Given the description of an element on the screen output the (x, y) to click on. 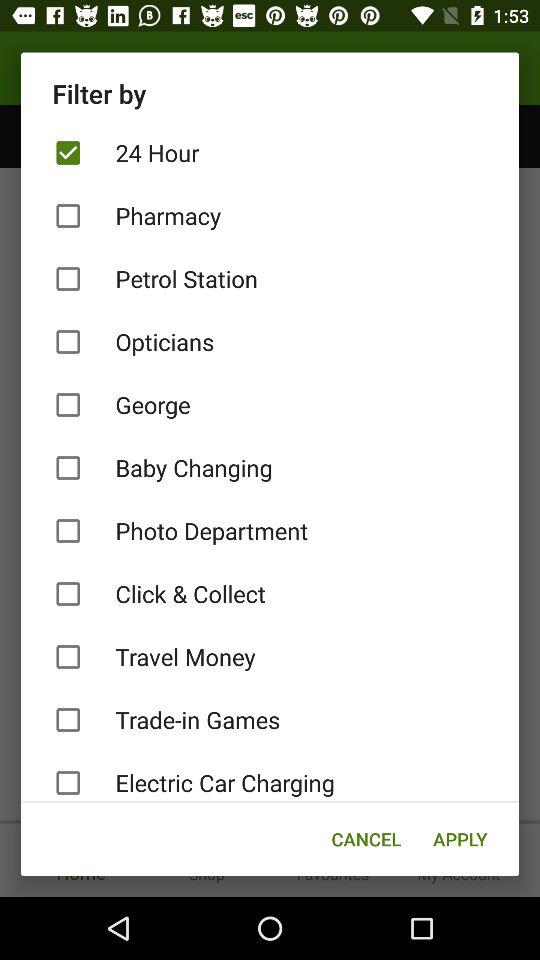
turn off item below pharmacy (270, 278)
